Given the description of an element on the screen output the (x, y) to click on. 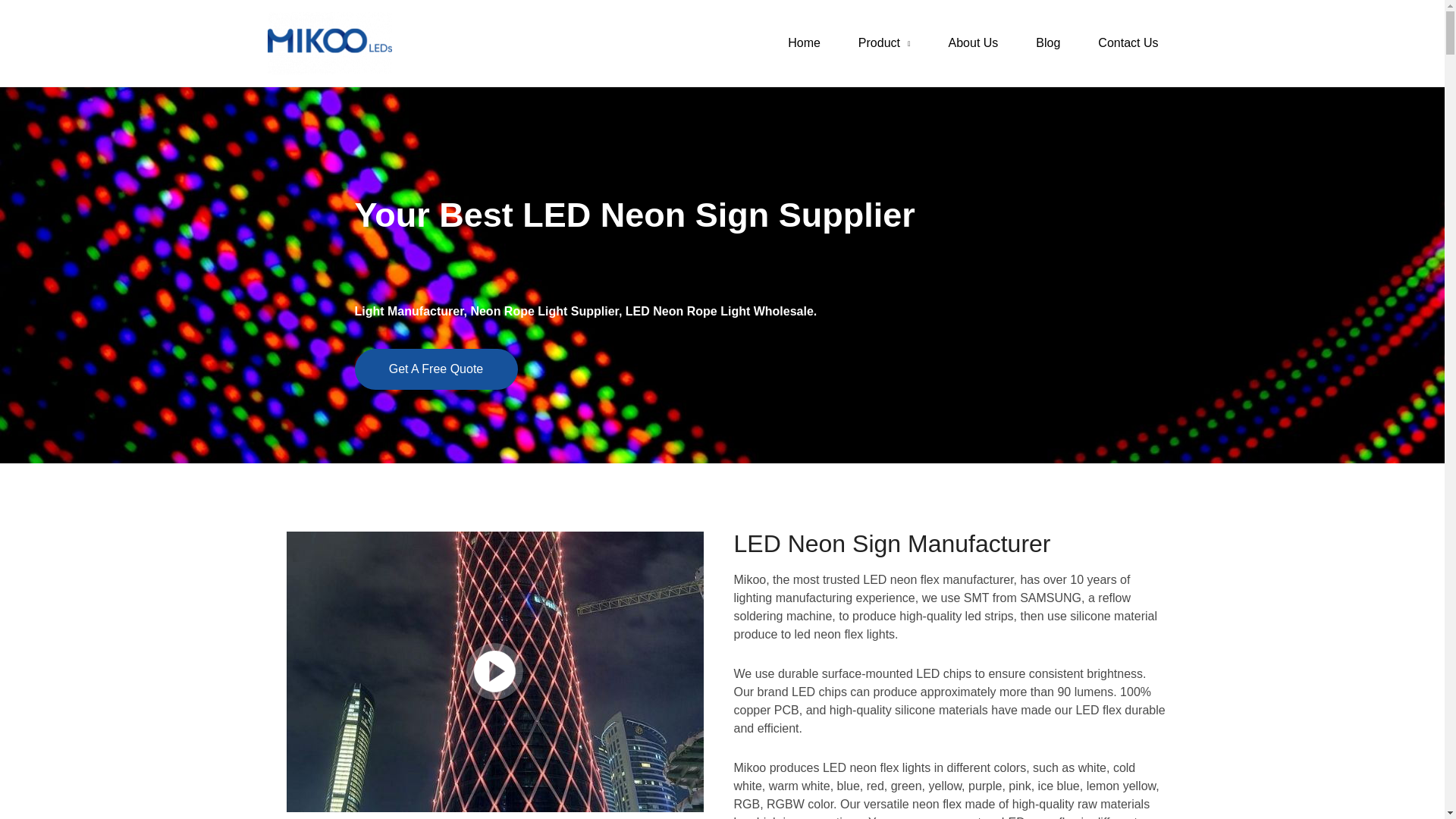
Get A Free Quote (436, 368)
About Us (973, 43)
Contact Us (1127, 43)
Product (885, 43)
